Given the description of an element on the screen output the (x, y) to click on. 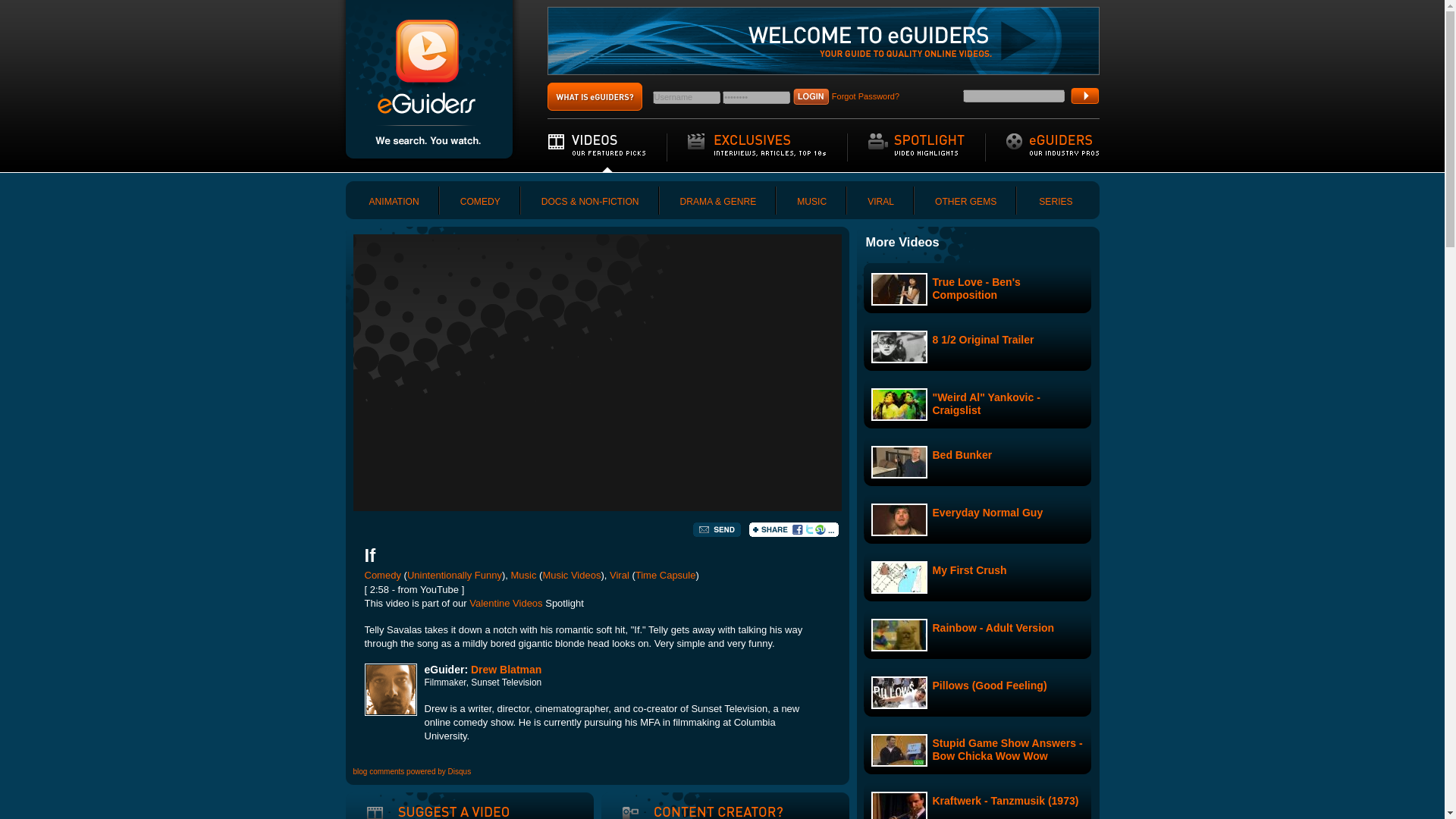
Password (756, 97)
Submit (1084, 95)
Username (685, 97)
Forgot Password? (865, 95)
